Given the description of an element on the screen output the (x, y) to click on. 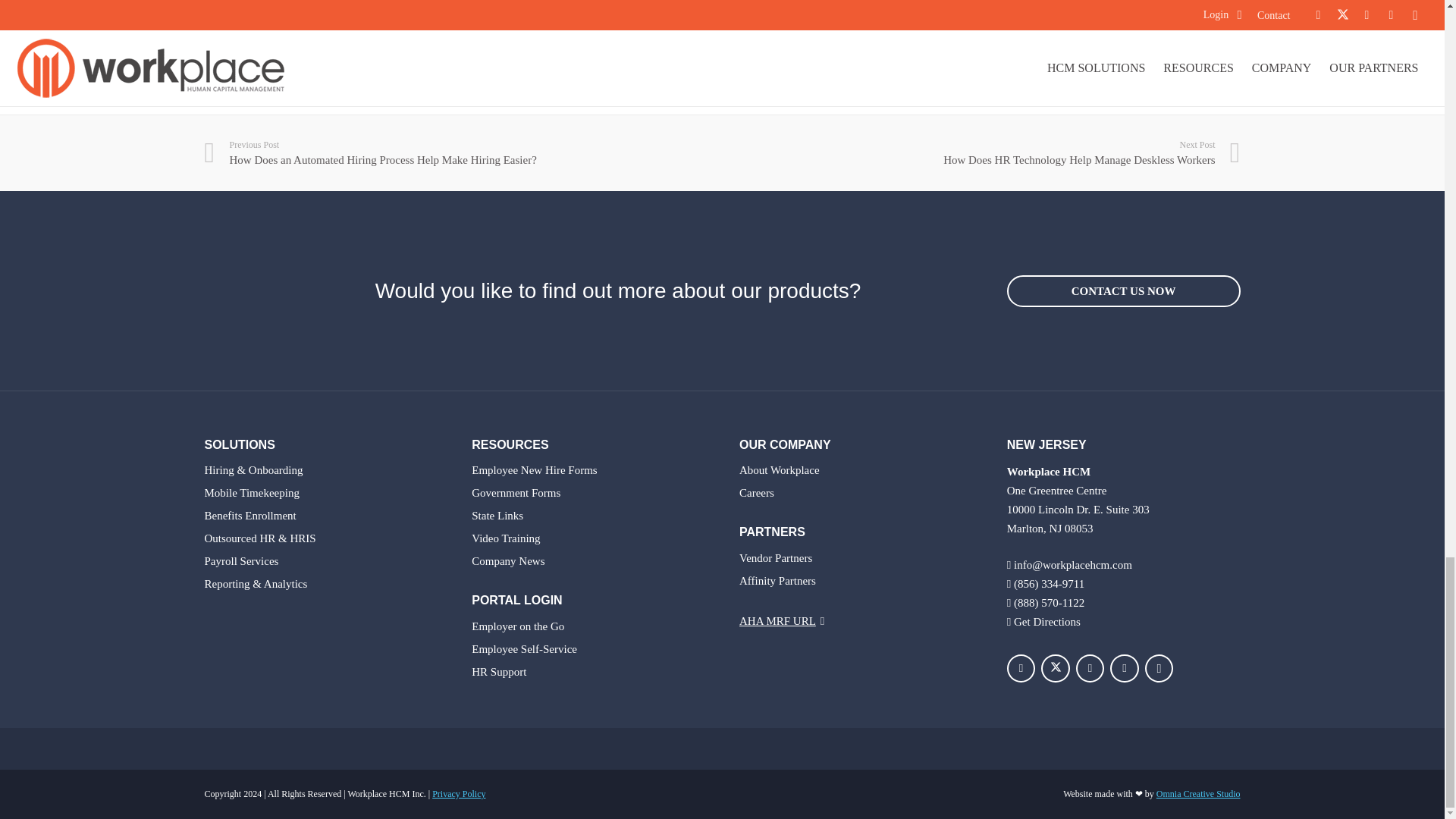
Email this (221, 11)
Share this (330, 11)
How Does HR Technology Help Manage Deskless Workers (981, 153)
Tweet this (294, 11)
Facebook (1021, 668)
Share this (258, 11)
